Given the description of an element on the screen output the (x, y) to click on. 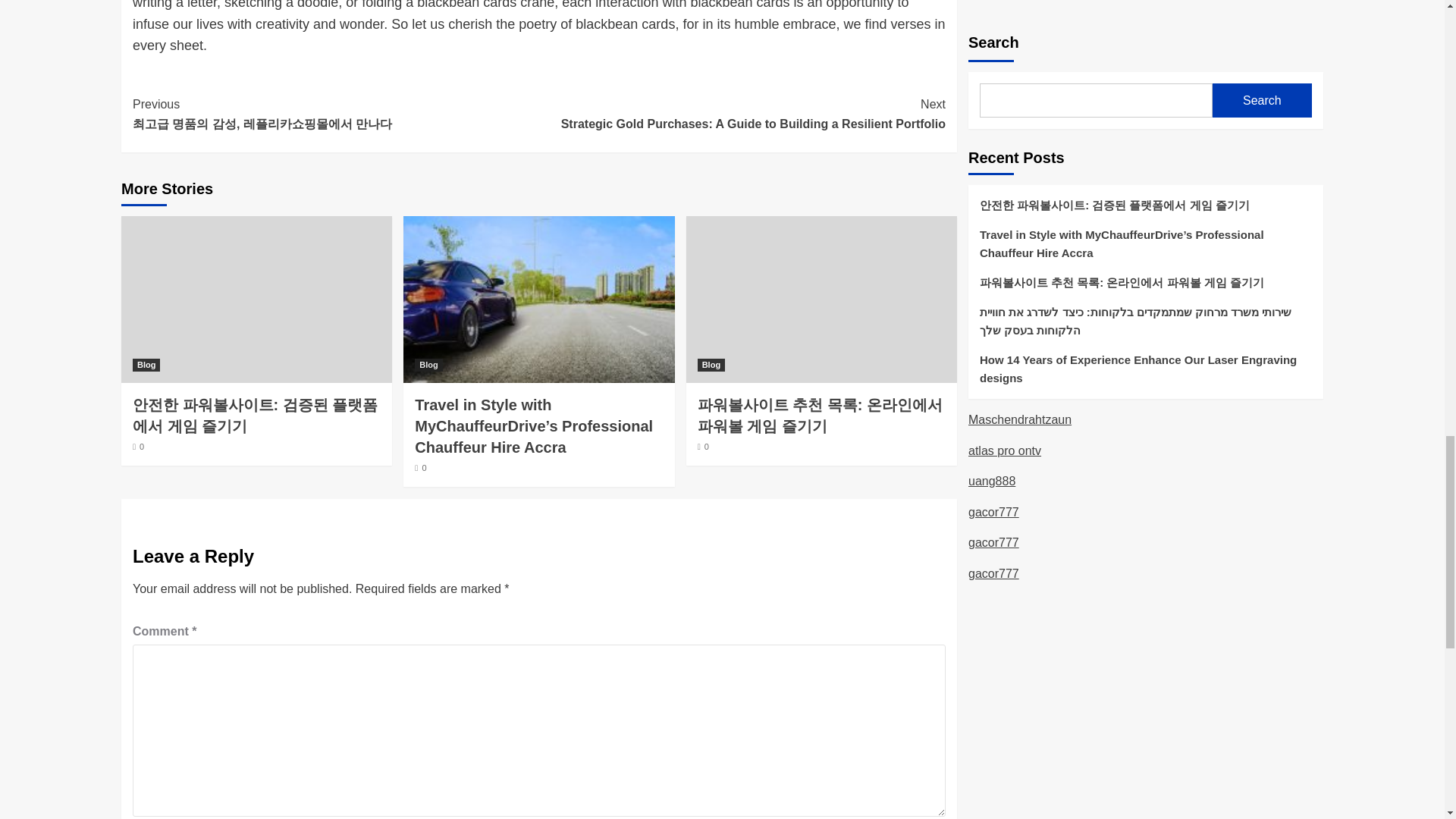
Blog (428, 364)
Blog (711, 364)
Blog (146, 364)
0 (138, 446)
0 (703, 446)
0 (420, 467)
